Given the description of an element on the screen output the (x, y) to click on. 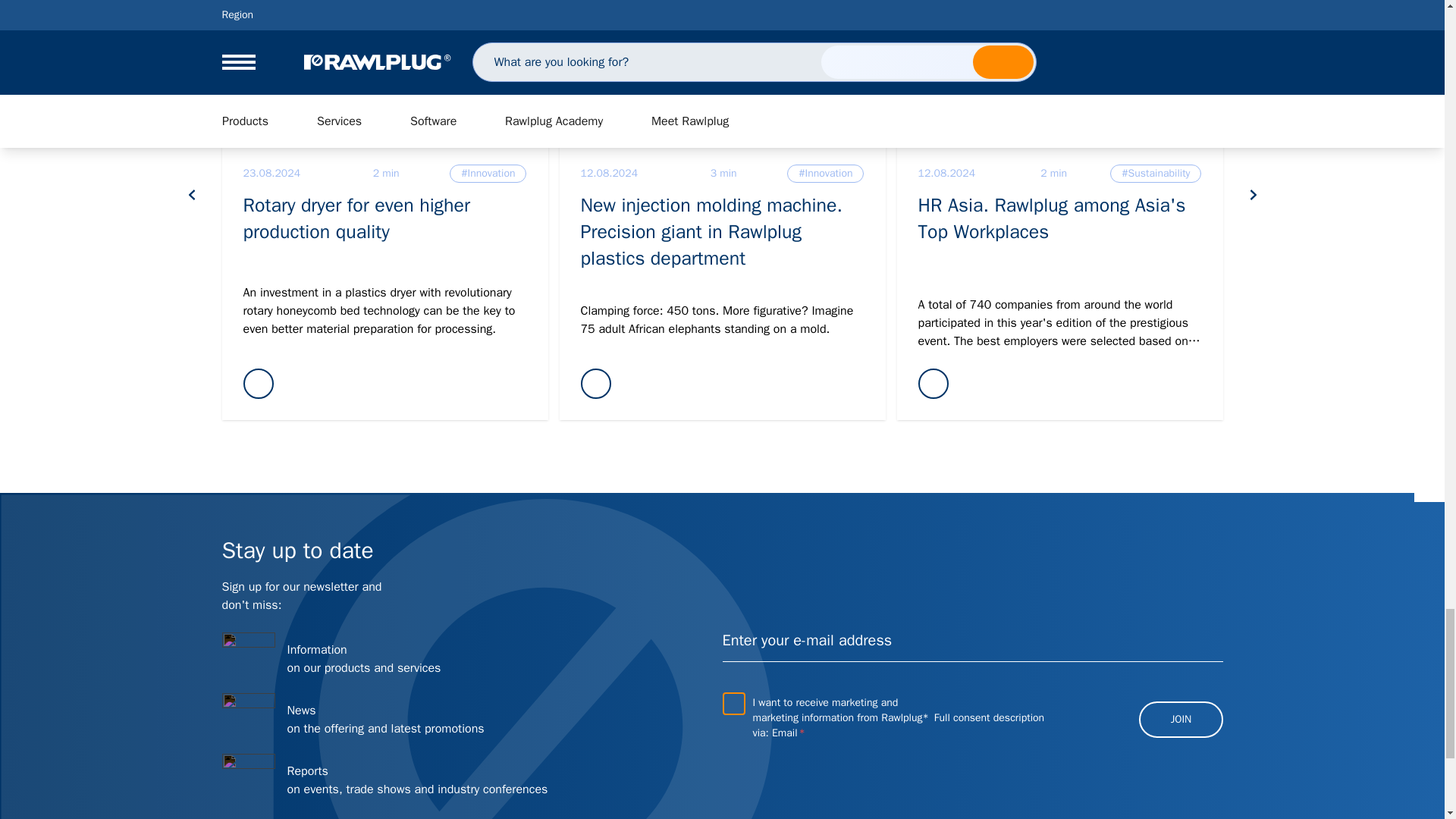
23-08-2024 (271, 172)
12-08-2024 (946, 172)
12-08-2024 (609, 172)
true (733, 702)
